Given the description of an element on the screen output the (x, y) to click on. 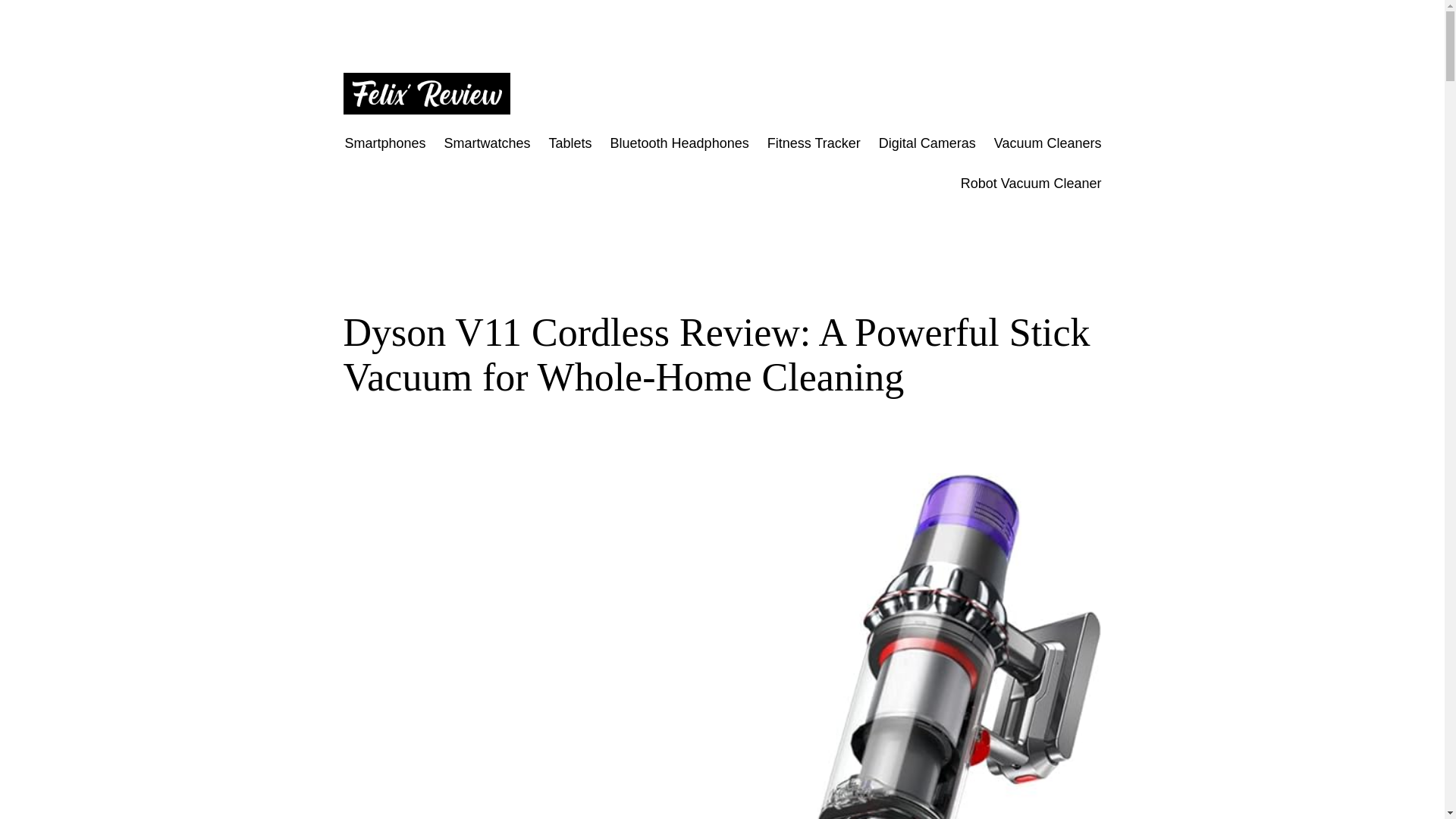
Fitness Tracker (813, 143)
Smartwatches (486, 143)
Robot Vacuum Cleaner (1031, 183)
Vacuum Cleaners (1048, 143)
Digital Cameras (927, 143)
Smartphones (384, 143)
Tablets (569, 143)
Bluetooth Headphones (679, 143)
